Given the description of an element on the screen output the (x, y) to click on. 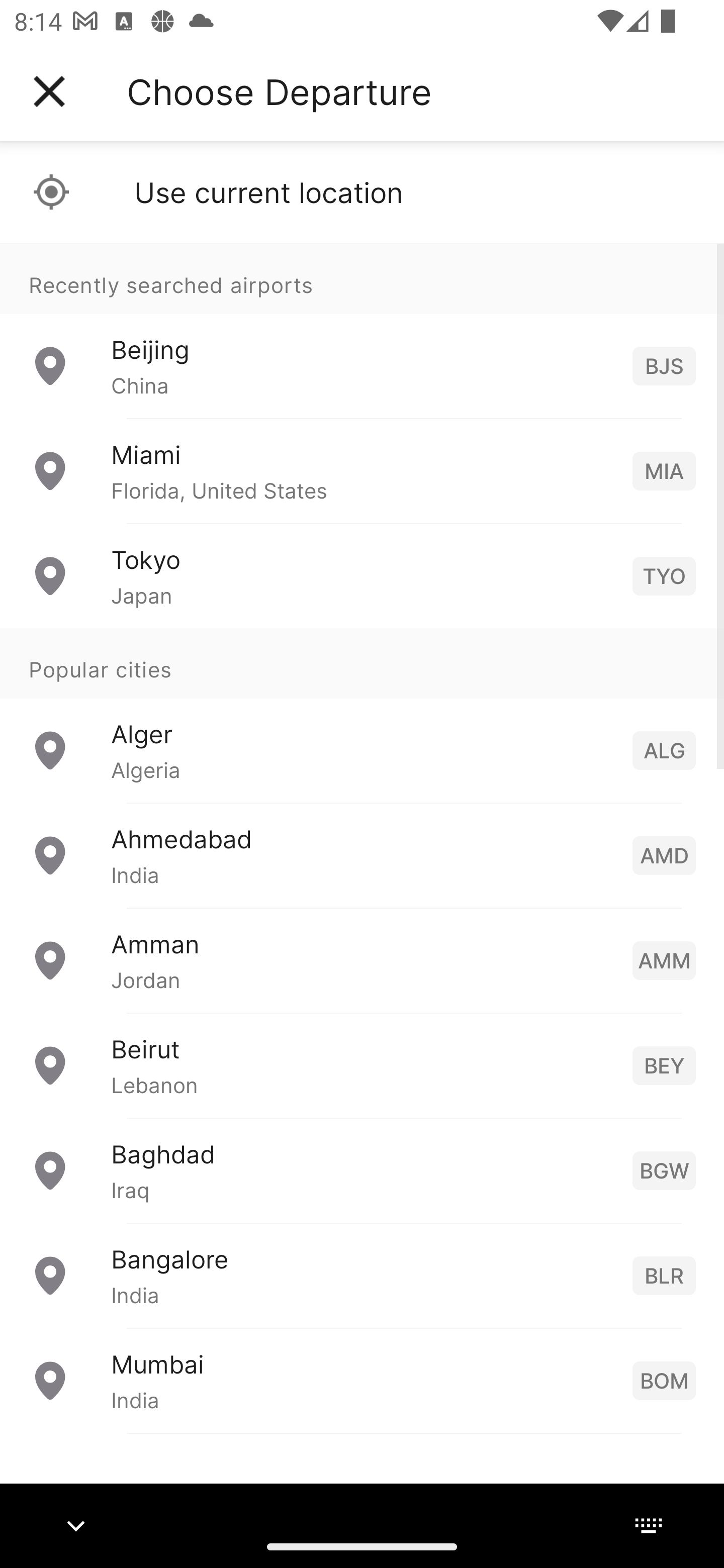
Choose Departure (279, 91)
Use current location (362, 192)
Recently searched airports Beijing China BJS (362, 330)
Recently searched airports (362, 278)
Miami Florida, United States MIA (362, 470)
Tokyo Japan TYO (362, 575)
Popular cities Alger Algeria ALG (362, 715)
Popular cities (362, 663)
Ahmedabad India AMD (362, 854)
Amman Jordan AMM (362, 959)
Beirut Lebanon BEY (362, 1064)
Baghdad Iraq BGW (362, 1170)
Bangalore India BLR (362, 1275)
Mumbai India BOM (362, 1380)
